Given the description of an element on the screen output the (x, y) to click on. 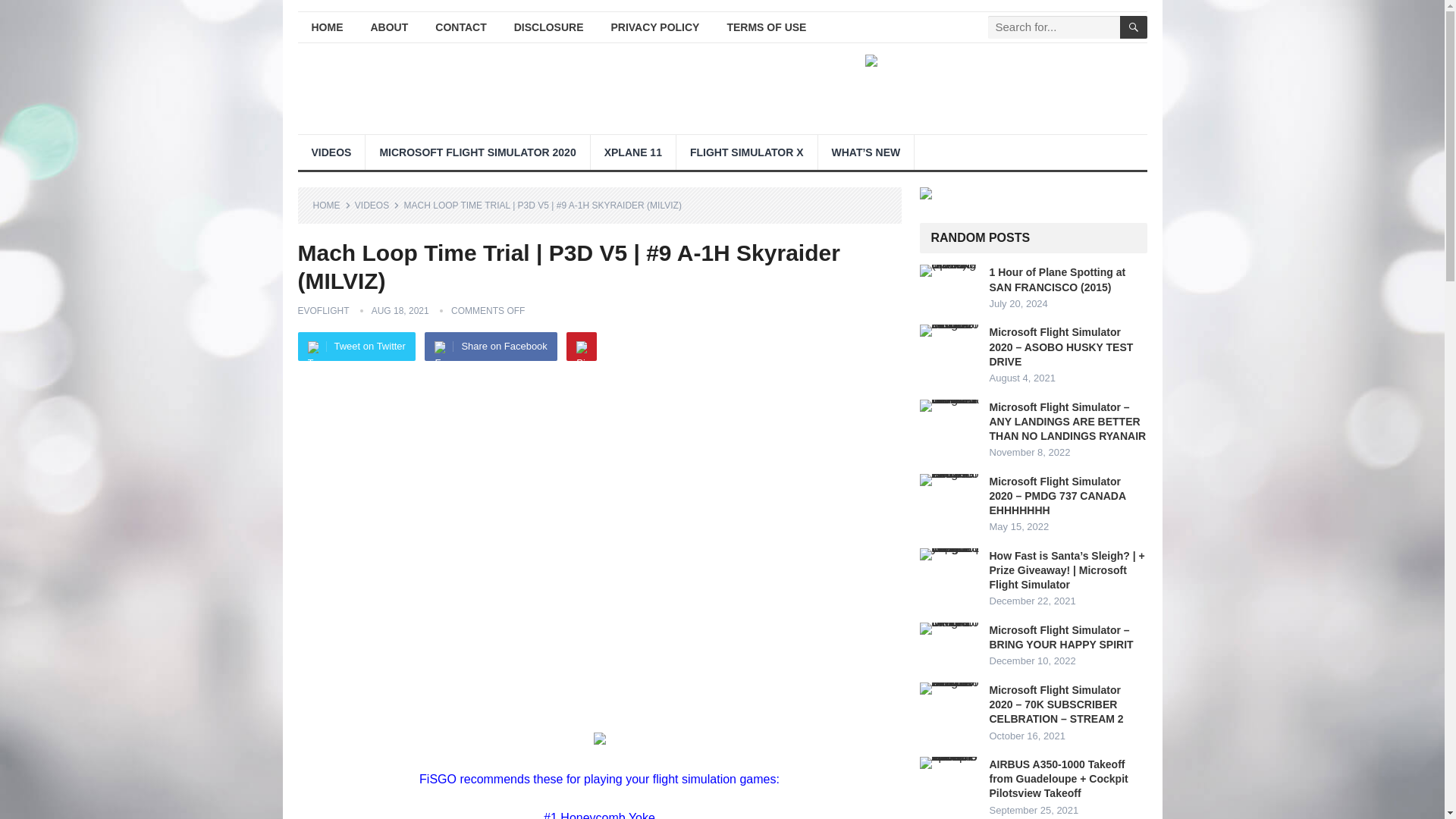
HOME (326, 27)
Pinterest (581, 346)
Posts by evoflight (323, 310)
MICROSOFT FLIGHT SIMULATOR 2020 (477, 152)
View all posts in Videos (376, 204)
EVOFLIGHT (323, 310)
TERMS OF USE (766, 27)
HOME (331, 204)
Microsoft Flight Simulator 2020 - ASOBO HUSKY TEST DRIVE 14 (948, 330)
XPLANE 11 (633, 152)
VIDEOS (331, 152)
VIDEOS (376, 204)
